Given the description of an element on the screen output the (x, y) to click on. 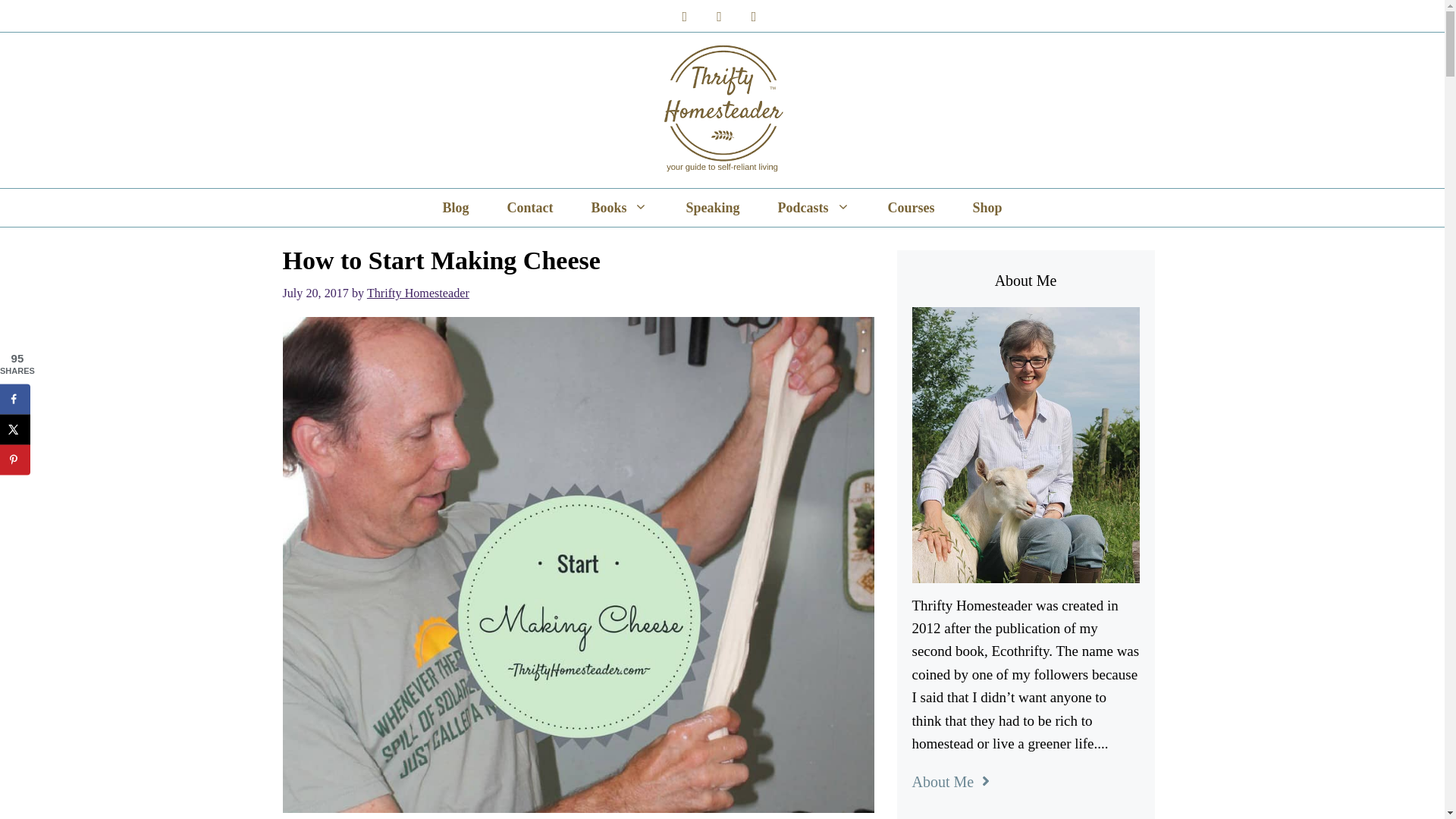
Books (619, 207)
Speaking (712, 207)
Share on X (15, 429)
View all posts by Thrifty Homesteader (417, 292)
Blog (455, 207)
Podcasts (813, 207)
Facebook (683, 17)
Courses (911, 207)
Save to Pinterest (15, 459)
Pinterest (753, 17)
Share on Facebook (15, 399)
Contact (529, 207)
Shop (987, 207)
Thrifty Homesteader (417, 292)
